Given the description of an element on the screen output the (x, y) to click on. 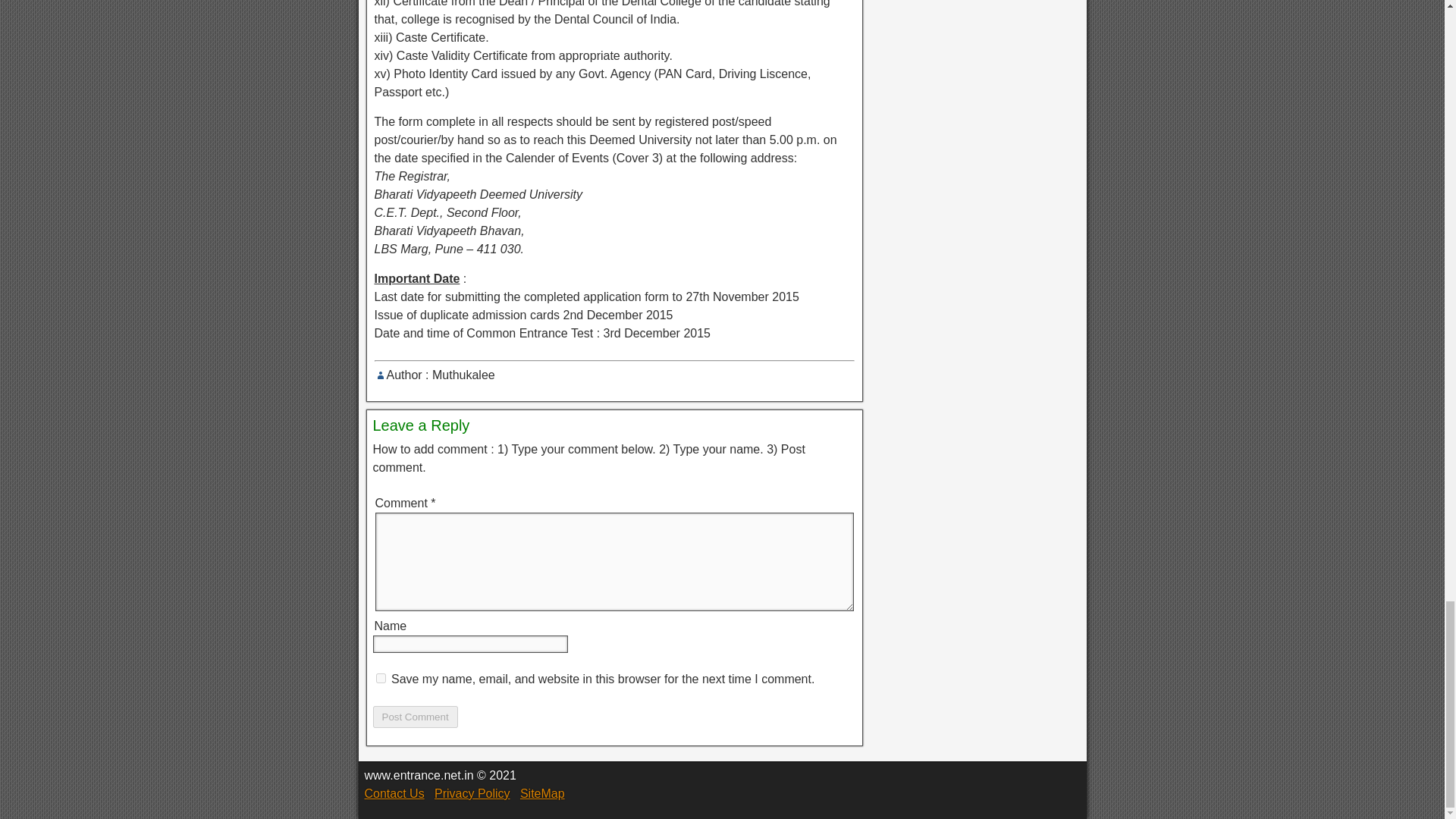
yes (380, 678)
Post Comment (415, 716)
Contact Us (393, 793)
SiteMap (541, 793)
Privacy Policy (472, 793)
Post Comment (415, 716)
